Given the description of an element on the screen output the (x, y) to click on. 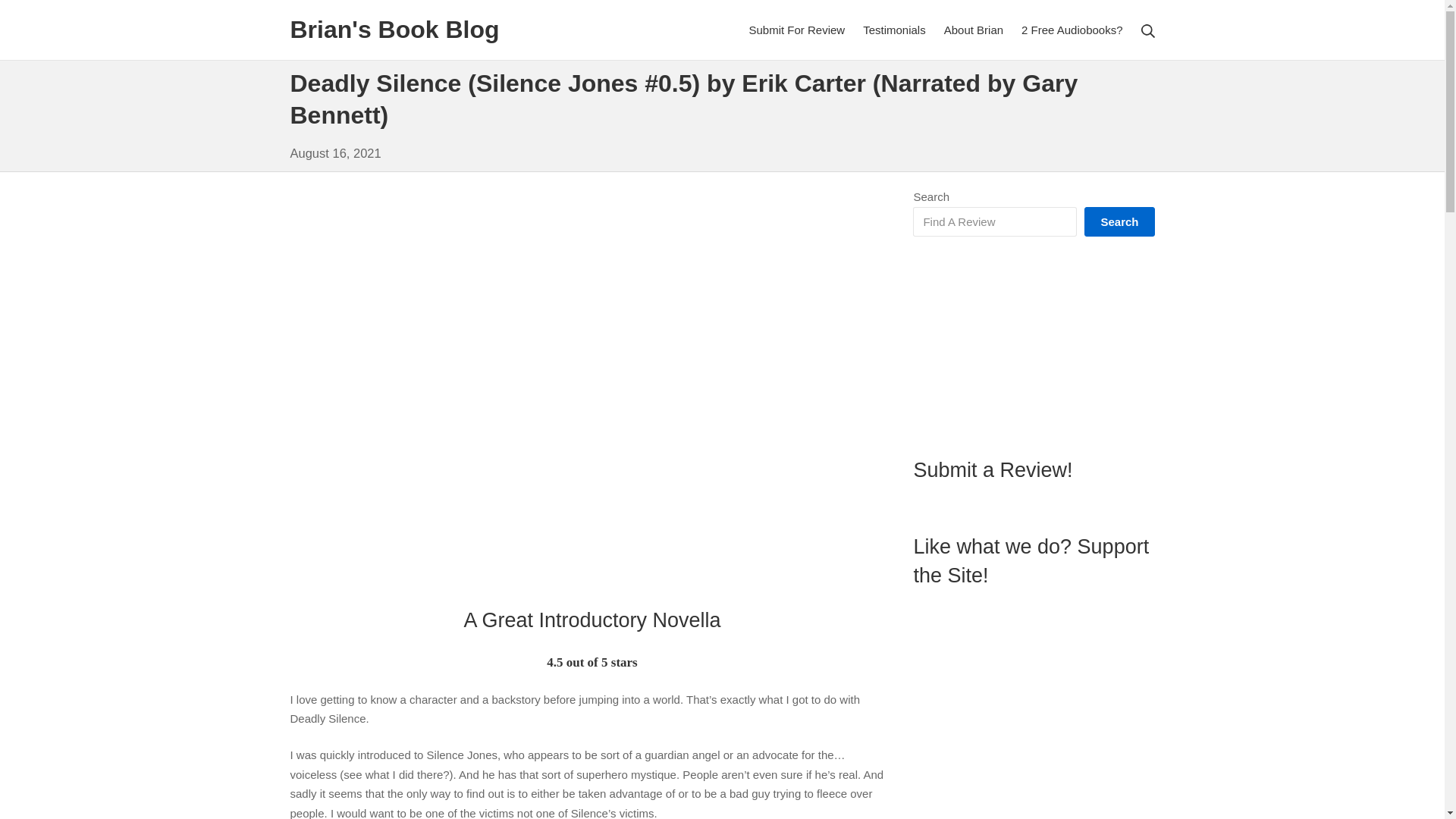
Testimonials (894, 30)
Advertisement (1033, 346)
Search (34, 14)
Brian's Book Blog (394, 29)
About Brian (973, 30)
Submit For Review (796, 30)
2 Free Audiobooks? (1072, 30)
